Given the description of an element on the screen output the (x, y) to click on. 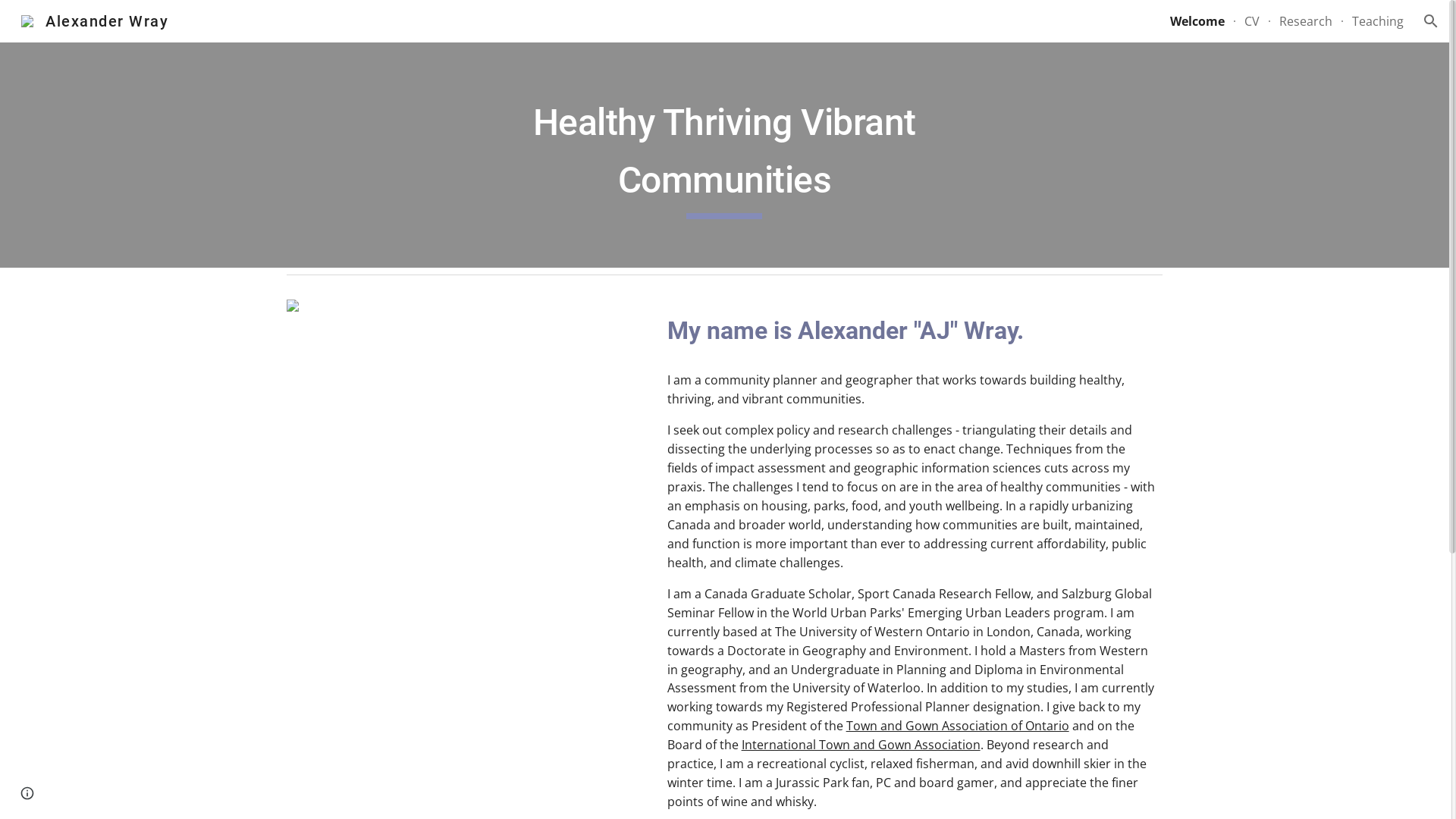
Teaching Element type: text (1377, 20)
International Town and Gown Association Element type: text (860, 744)
Research Element type: text (1305, 20)
Town and Gown Association of Ontario Element type: text (957, 725)
Alexander Wray Element type: text (94, 19)
CV Element type: text (1251, 20)
Welcome Element type: text (1197, 20)
